Given the description of an element on the screen output the (x, y) to click on. 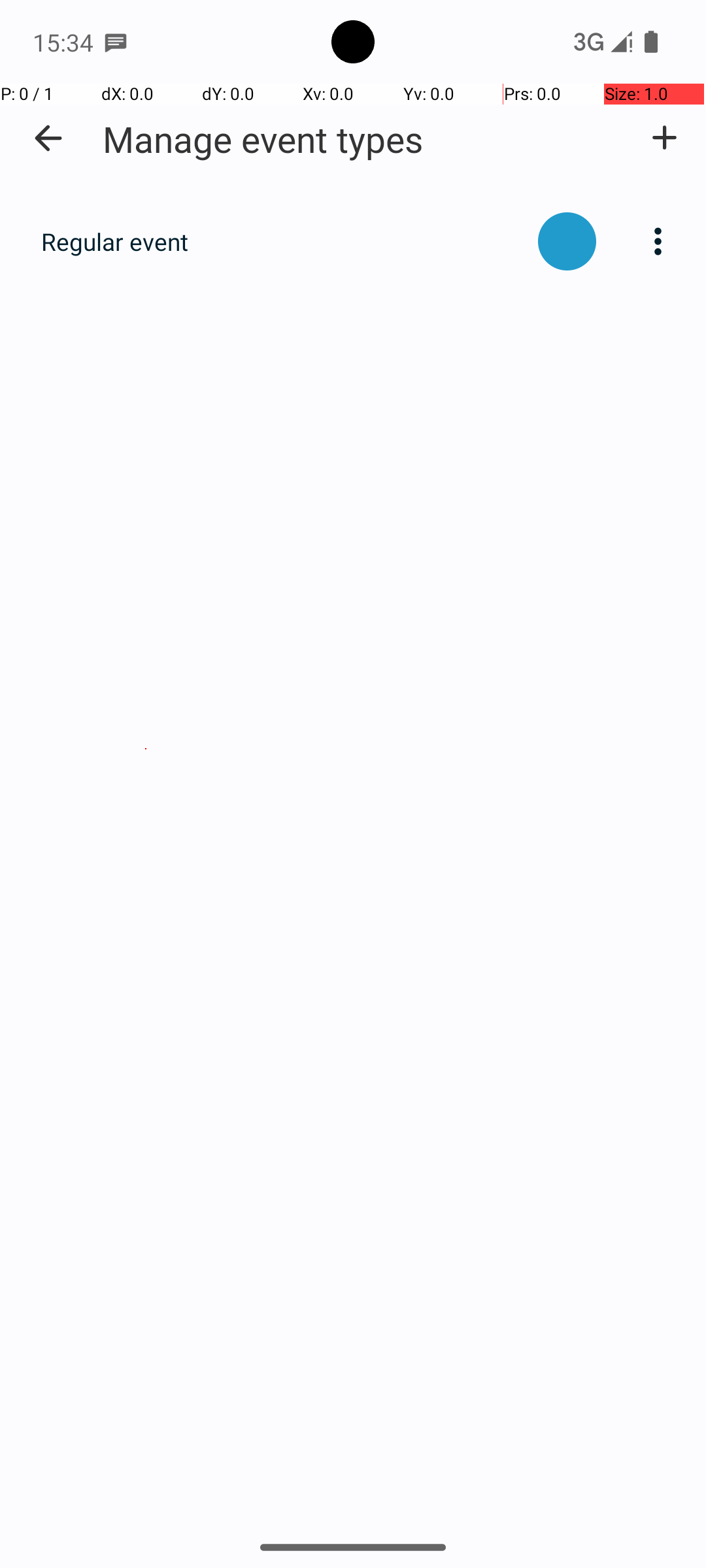
Add a new type Element type: android.widget.Button (664, 137)
